Given the description of an element on the screen output the (x, y) to click on. 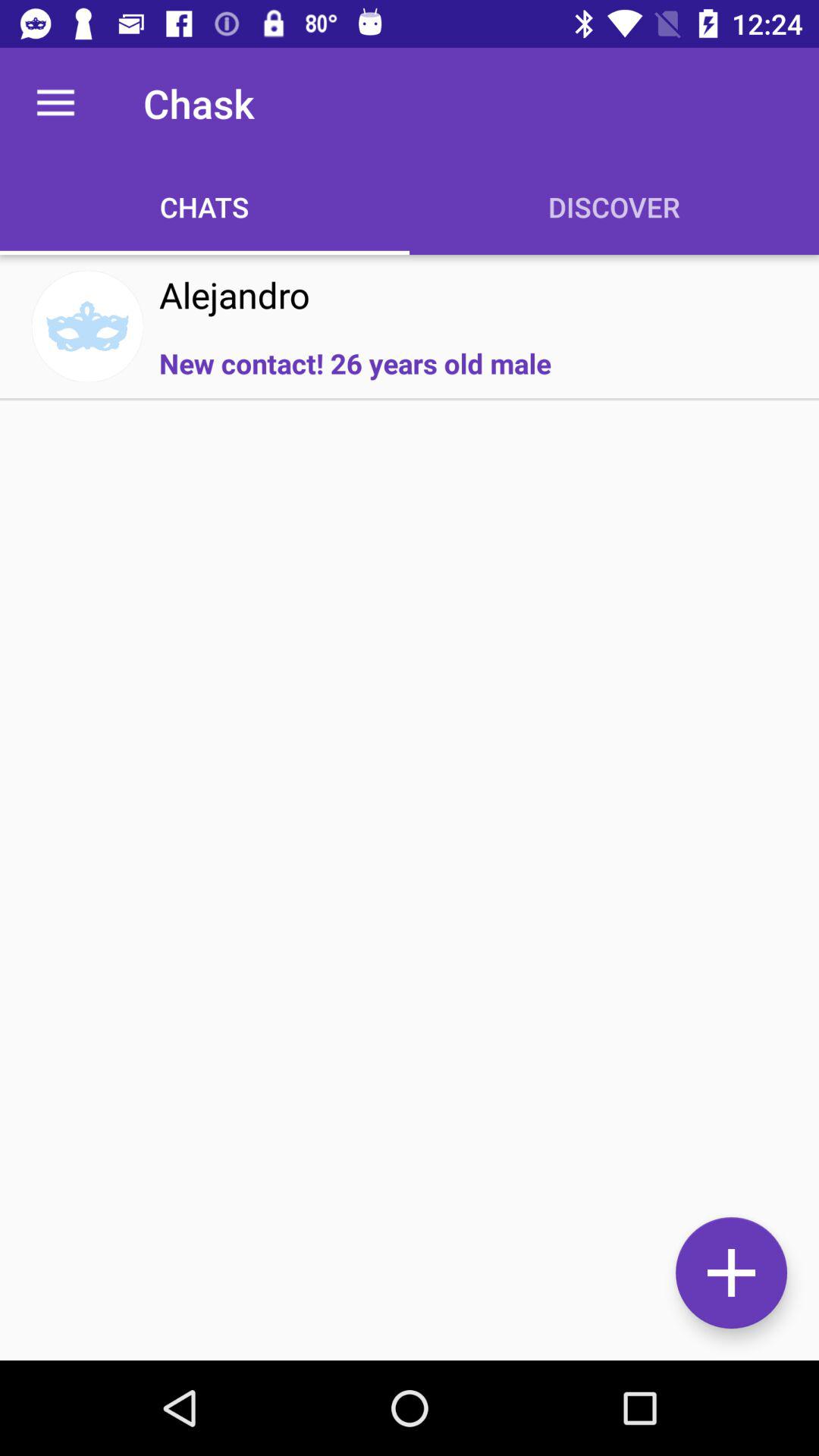
turn off icon at the bottom right corner (731, 1272)
